Given the description of an element on the screen output the (x, y) to click on. 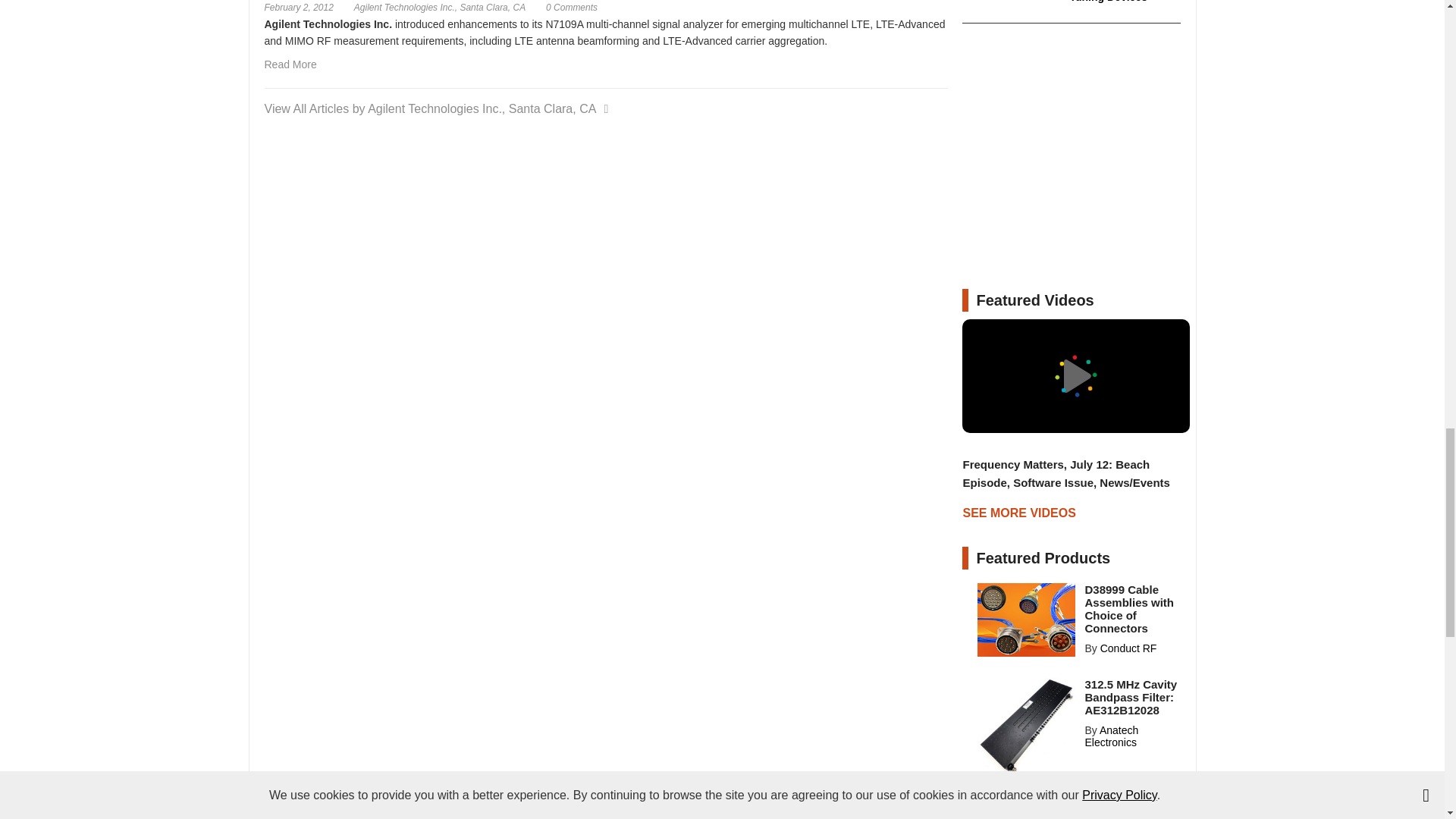
Agilent announces eight-channel RF measurement solution (571, 7)
